Given the description of an element on the screen output the (x, y) to click on. 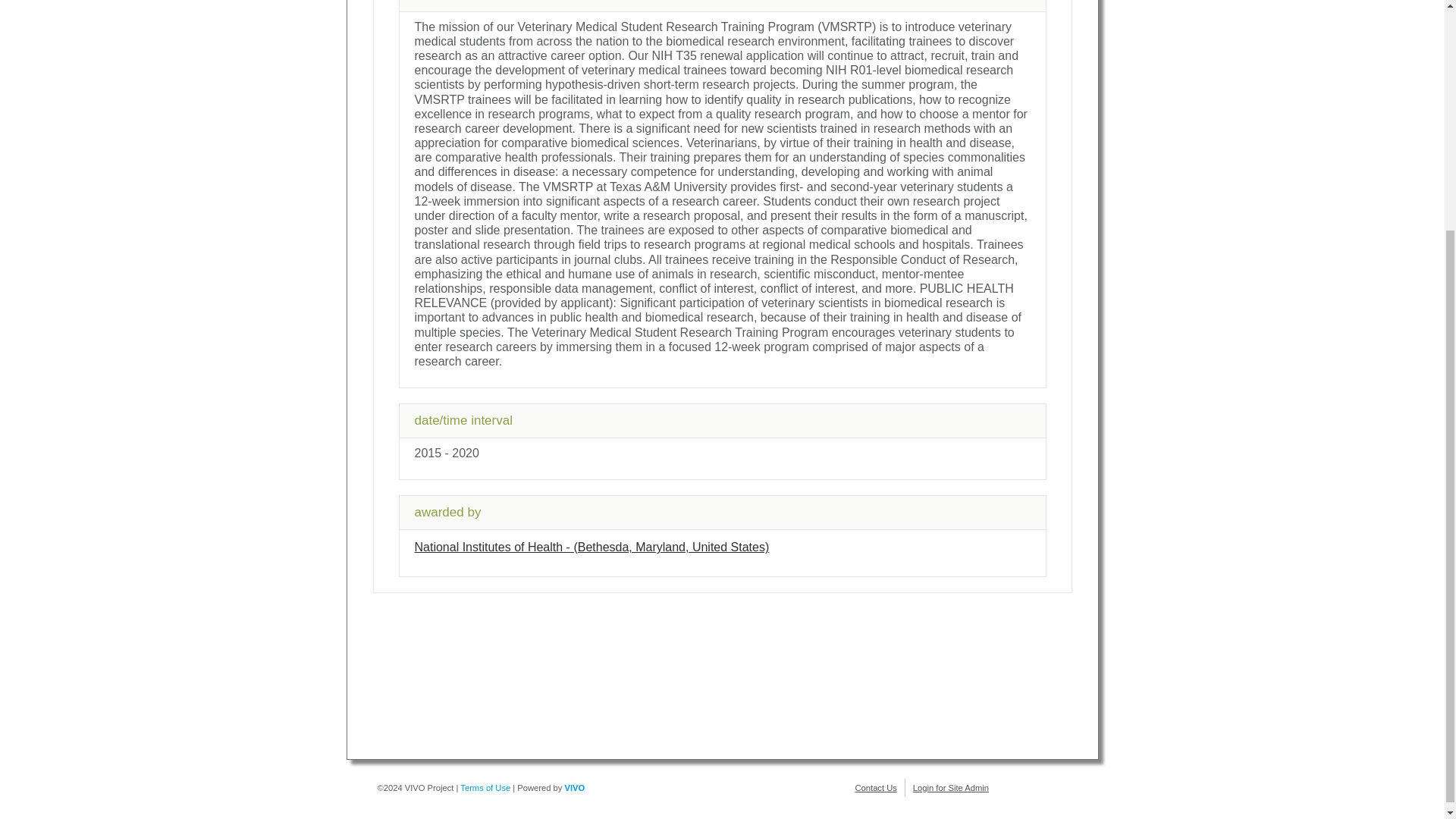
Terms of Use (485, 787)
Login for Site Admin (950, 787)
name (590, 546)
Terms of Use (485, 787)
Contact Us (876, 787)
VIVO (574, 787)
Powered by VIVO (574, 787)
